Given the description of an element on the screen output the (x, y) to click on. 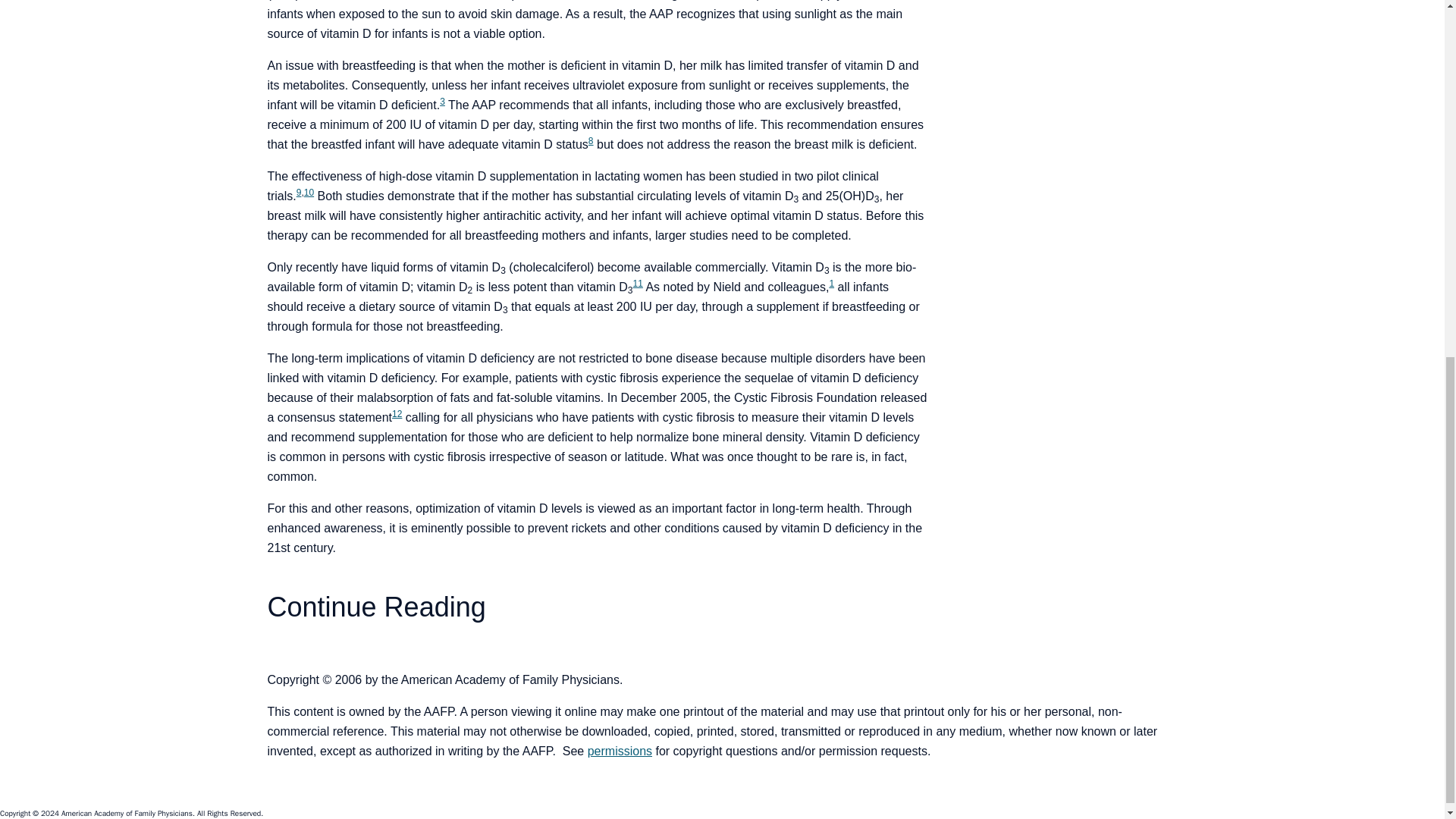
10 (309, 192)
permissions (620, 750)
11 (638, 283)
12 (396, 413)
